Given the description of an element on the screen output the (x, y) to click on. 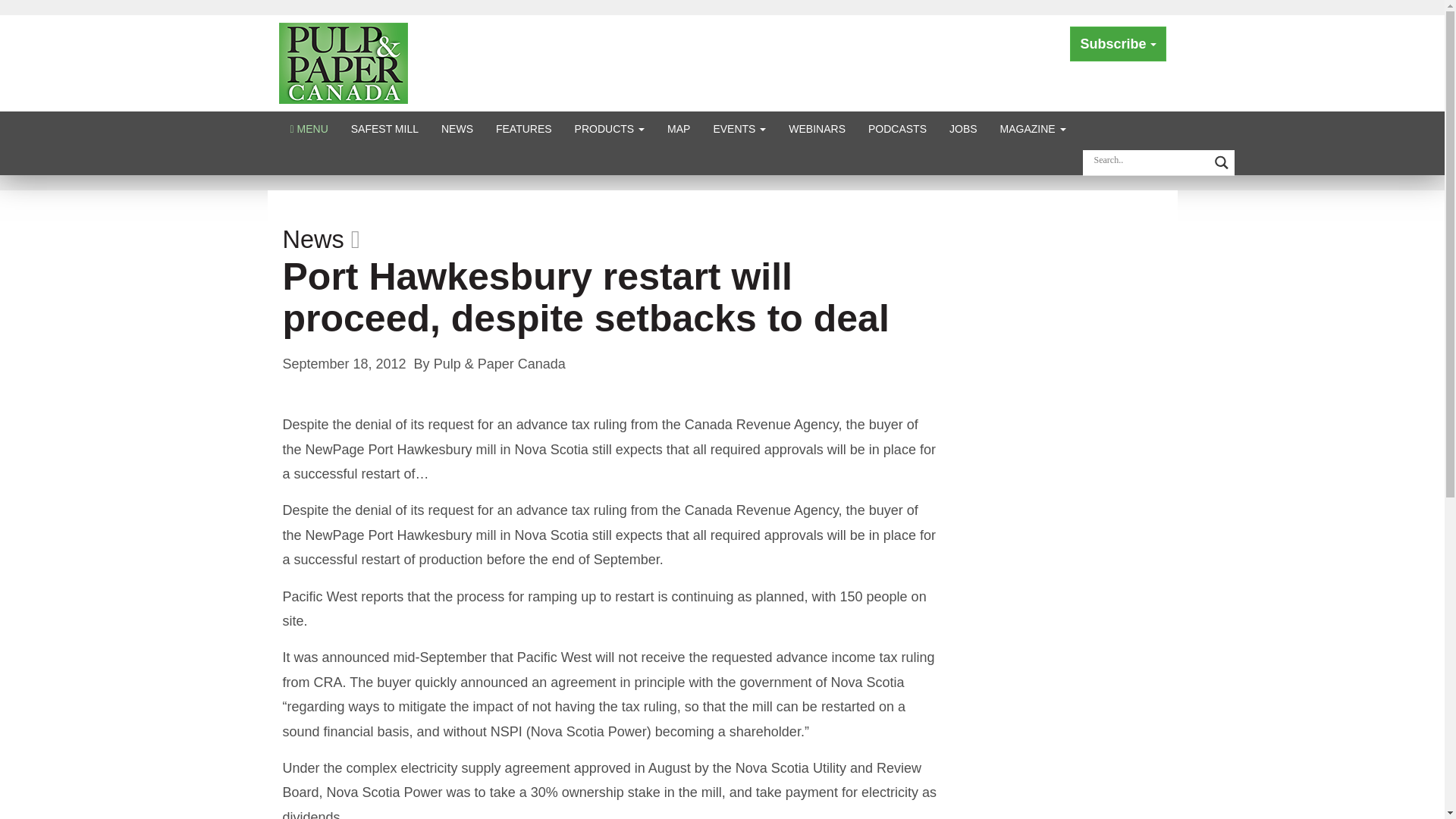
EVENTS (739, 128)
PRODUCTS (609, 128)
MENU (309, 128)
PODCASTS (897, 128)
MAGAZINE (1032, 128)
SAFEST MILL (384, 128)
Pulp and Paper Canada (343, 61)
MAP (678, 128)
Subscribe (1118, 43)
NEWS (456, 128)
